Given the description of an element on the screen output the (x, y) to click on. 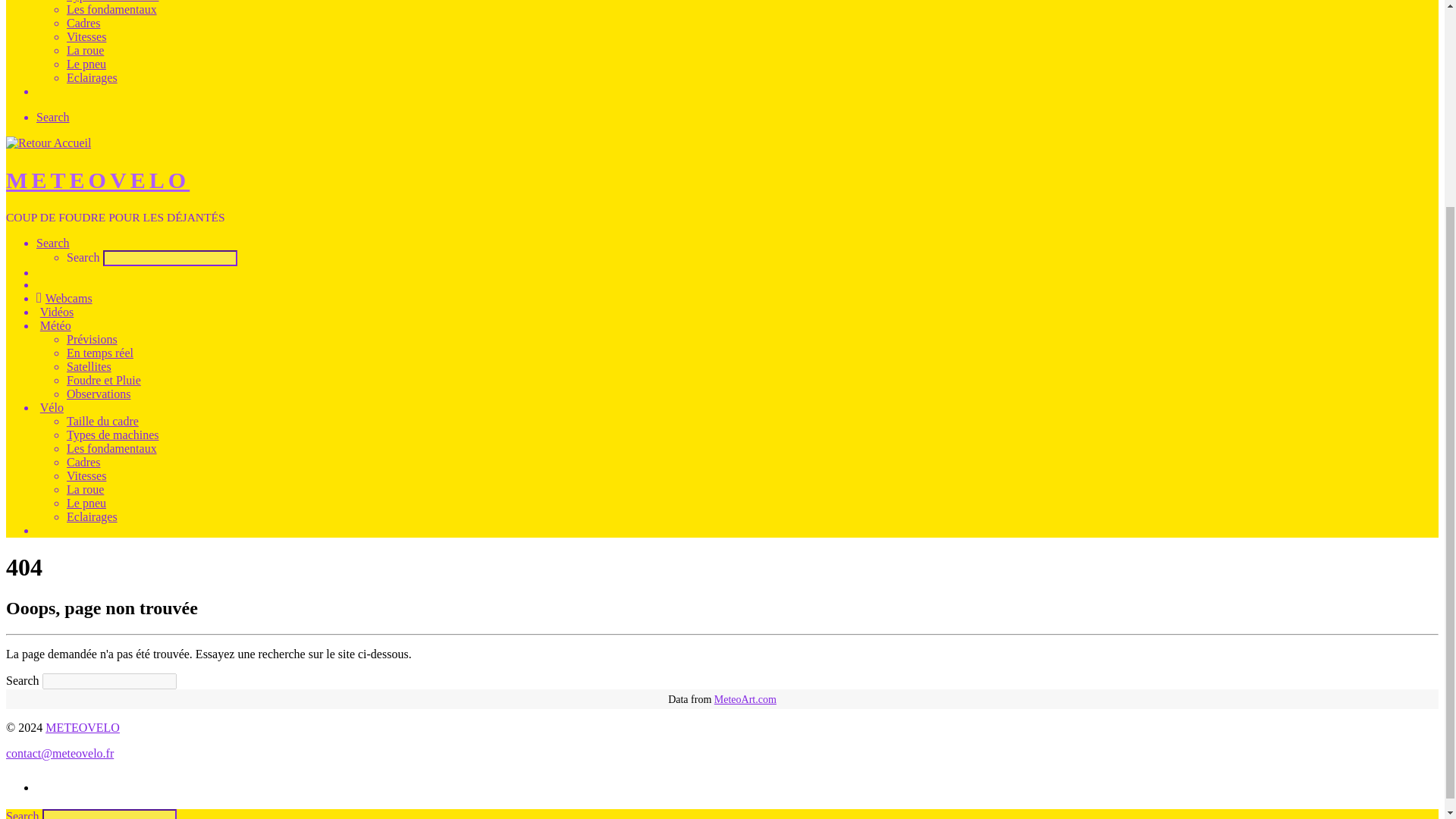
Webcams (64, 297)
Les fondamentaux (111, 9)
METEOVELO (82, 727)
Le pneu (86, 63)
METEOVELO (97, 180)
Foudre et Pluie (103, 379)
Observations (98, 393)
Cadres (83, 22)
La roue (84, 50)
Types de machines (112, 434)
